Given the description of an element on the screen output the (x, y) to click on. 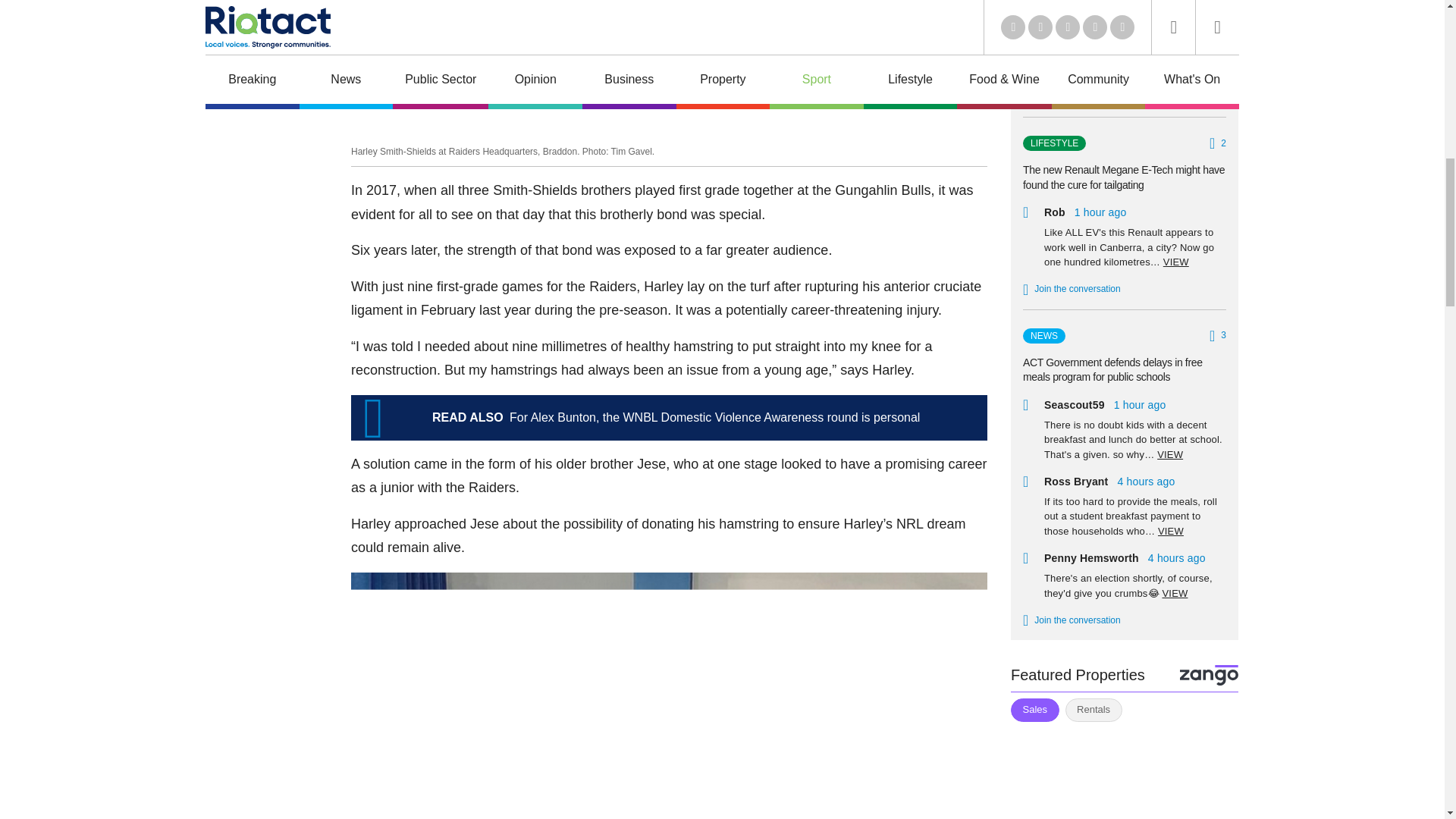
Zango Sales (1124, 773)
Zango (1209, 675)
